Given the description of an element on the screen output the (x, y) to click on. 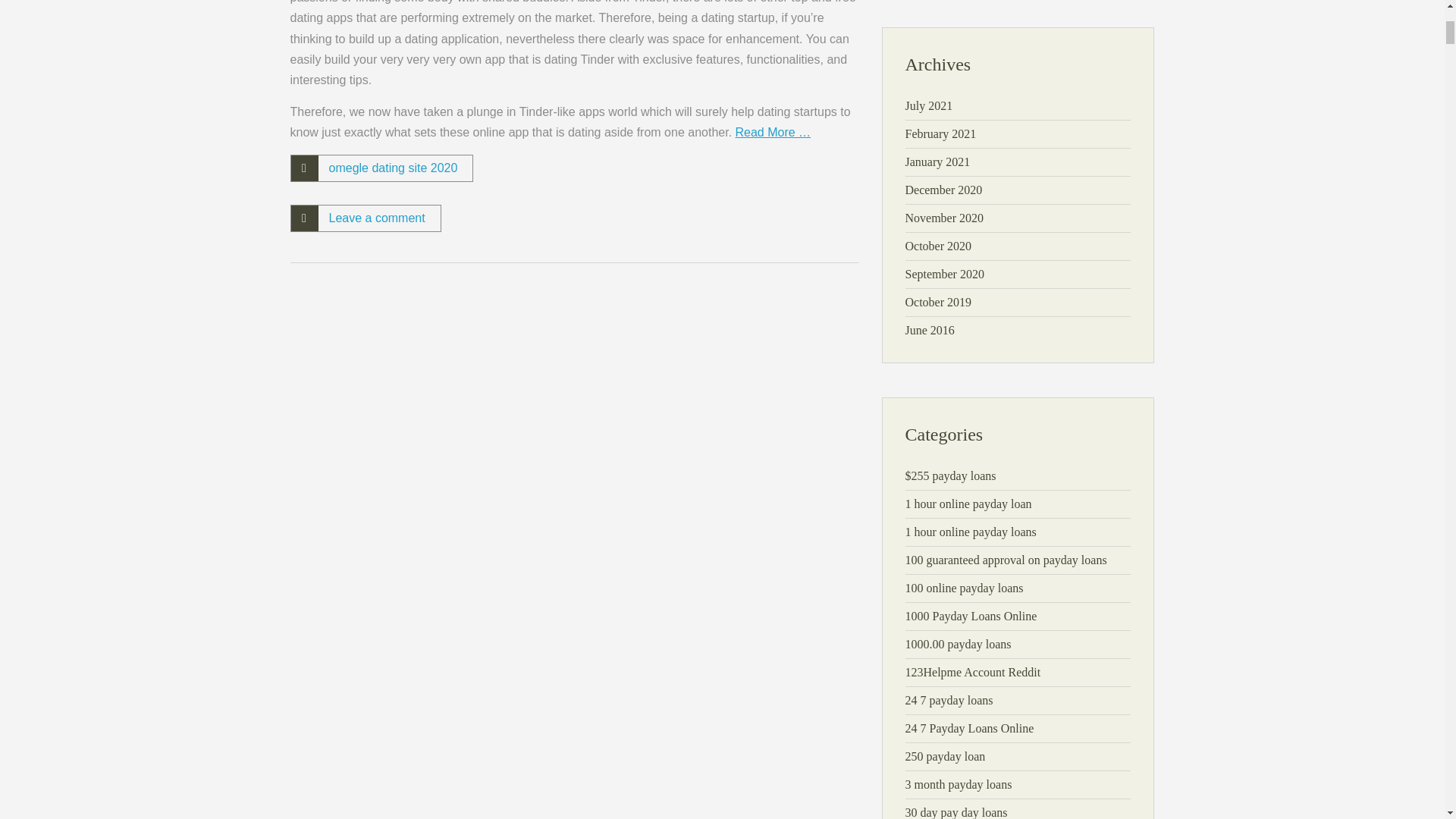
1000 Payday Loans Online (970, 615)
1 hour online payday loans (970, 531)
24 7 Payday Loans Online (969, 727)
1 hour online payday loan (968, 503)
1000.00 payday loans (958, 644)
October 2019 (938, 301)
July 2021 (929, 105)
October 2020 (938, 245)
Leave a comment (377, 217)
100 online payday loans (964, 587)
